Given the description of an element on the screen output the (x, y) to click on. 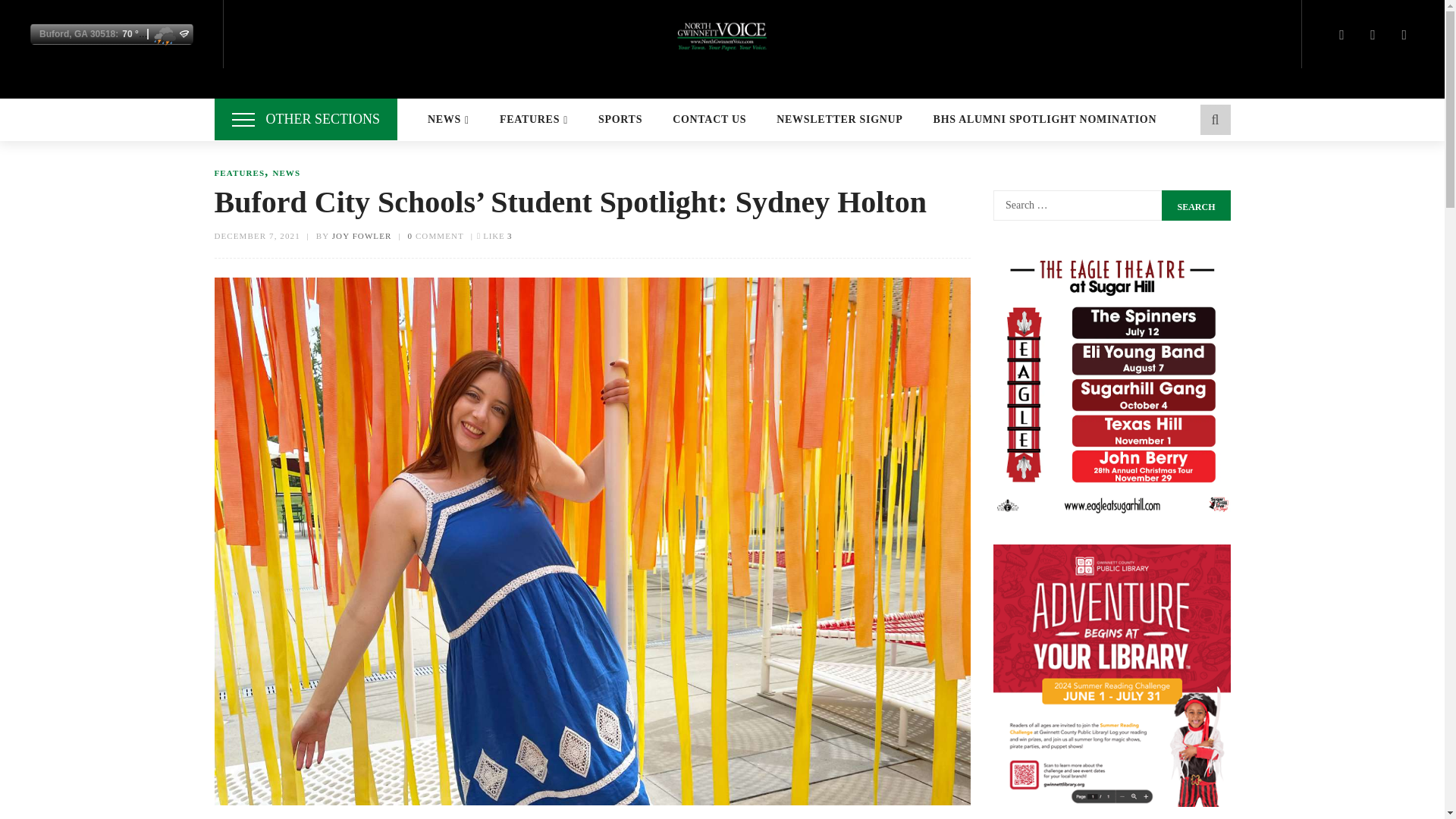
CONTACT US (708, 119)
NEWS (285, 172)
FEATURES (239, 172)
DECEMBER 7, 2021 (256, 235)
LIKE 3 (494, 235)
NEWSLETTER SIGNUP (839, 119)
BHS ALUMNI SPOTLIGHT NOMINATION (1045, 119)
SPORTS (620, 119)
JOY FOWLER (361, 235)
NEWS (448, 119)
Joy Fowler (361, 235)
FEATURES (533, 119)
North Gwinnett Voice-Your Town. Your Paper. Your Voice. (722, 33)
